Given the description of an element on the screen output the (x, y) to click on. 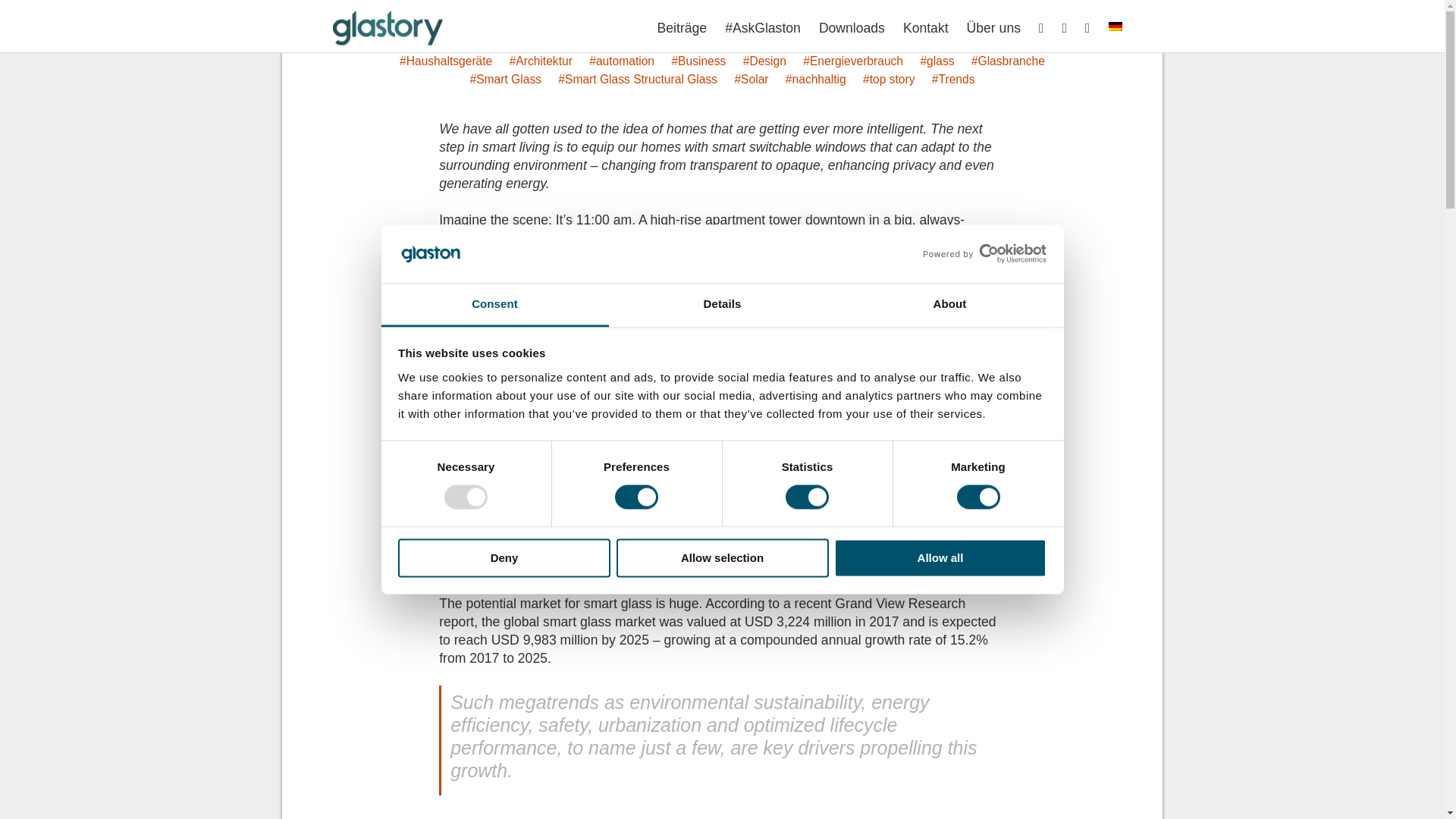
Consent (494, 304)
About (948, 304)
Details (721, 304)
Glastory -  (387, 44)
